Given the description of an element on the screen output the (x, y) to click on. 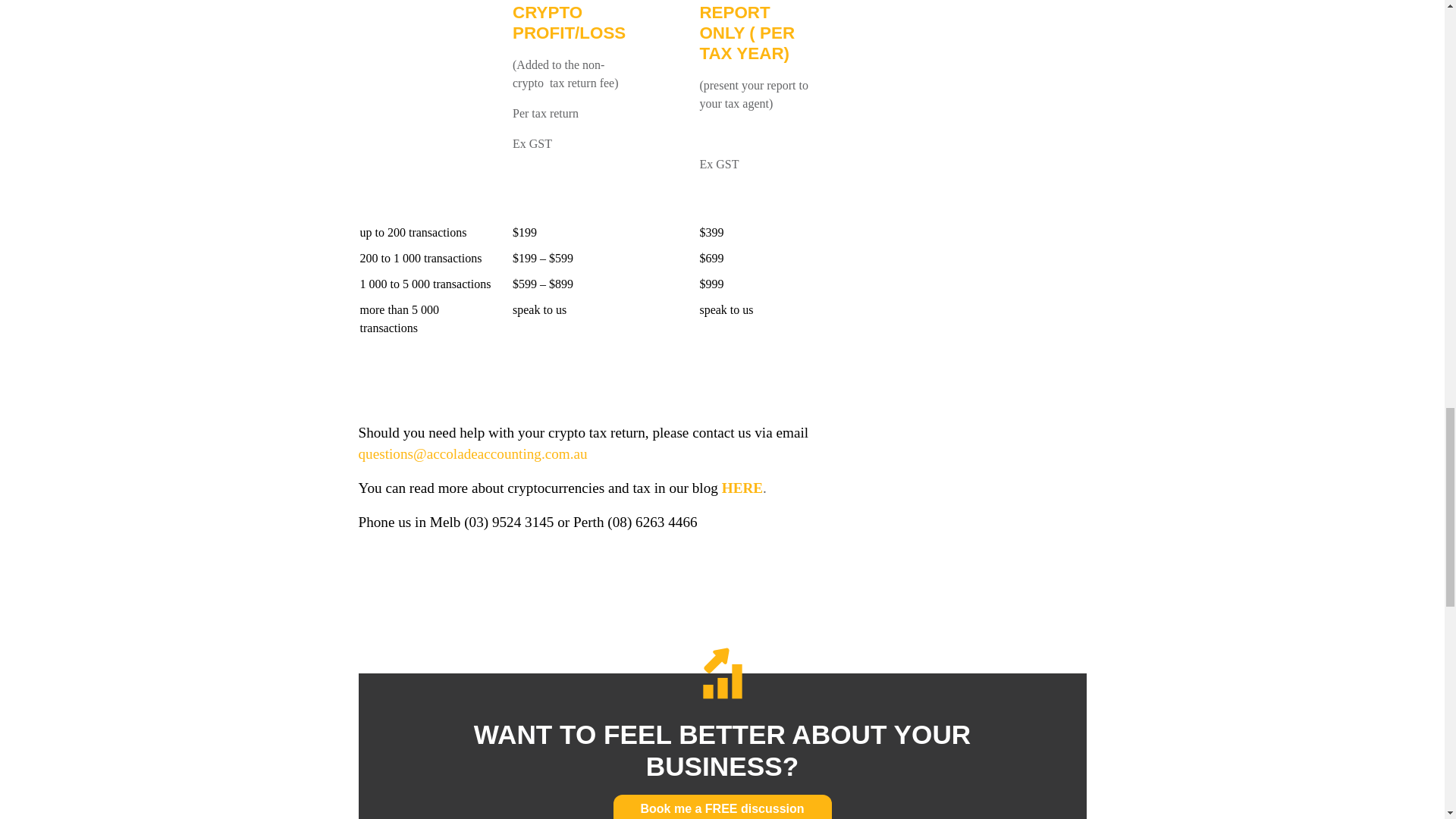
HERE (742, 487)
Book me a FREE discussion NOW (721, 806)
